Given the description of an element on the screen output the (x, y) to click on. 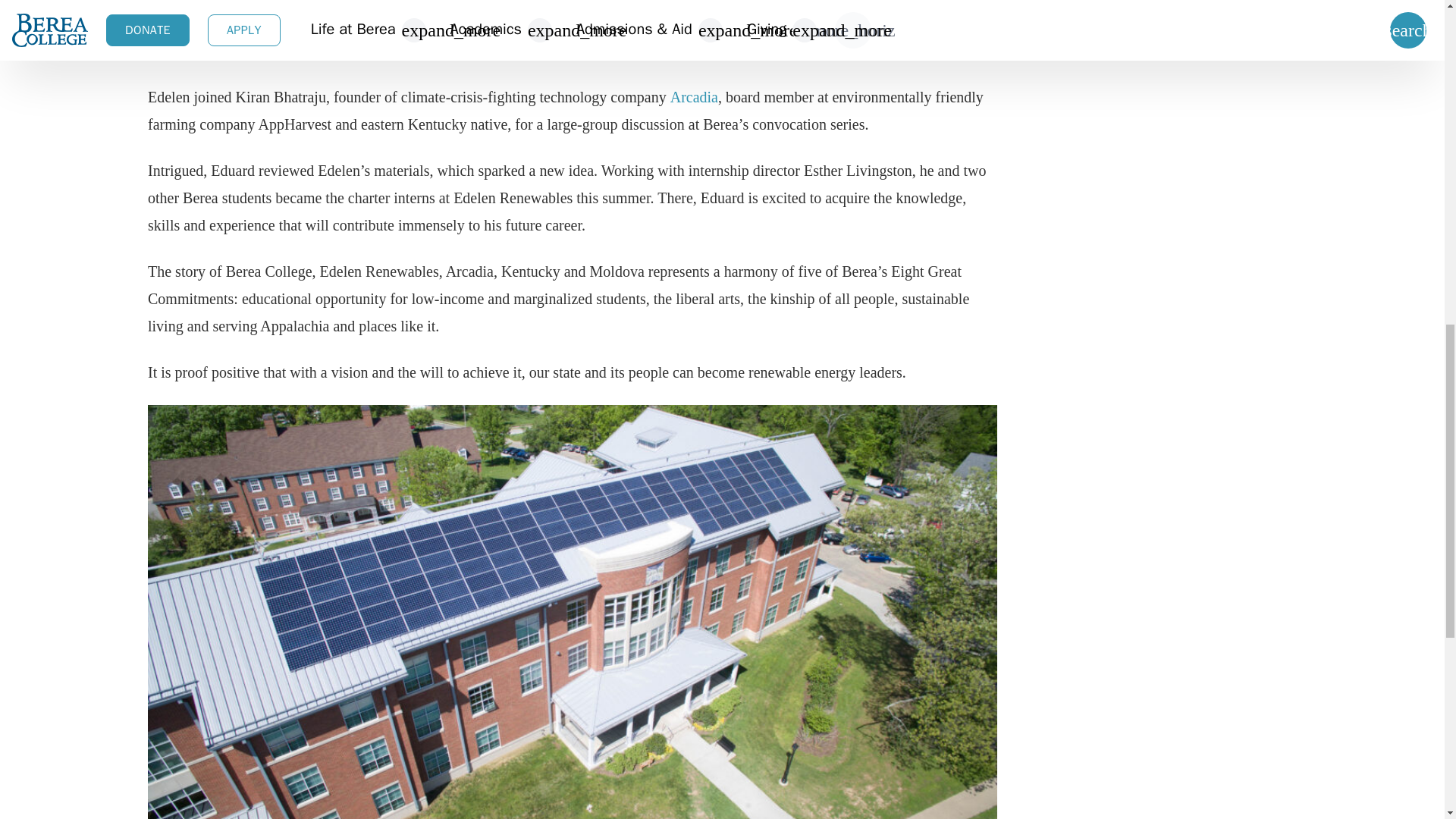
Arcadia (693, 96)
